Given the description of an element on the screen output the (x, y) to click on. 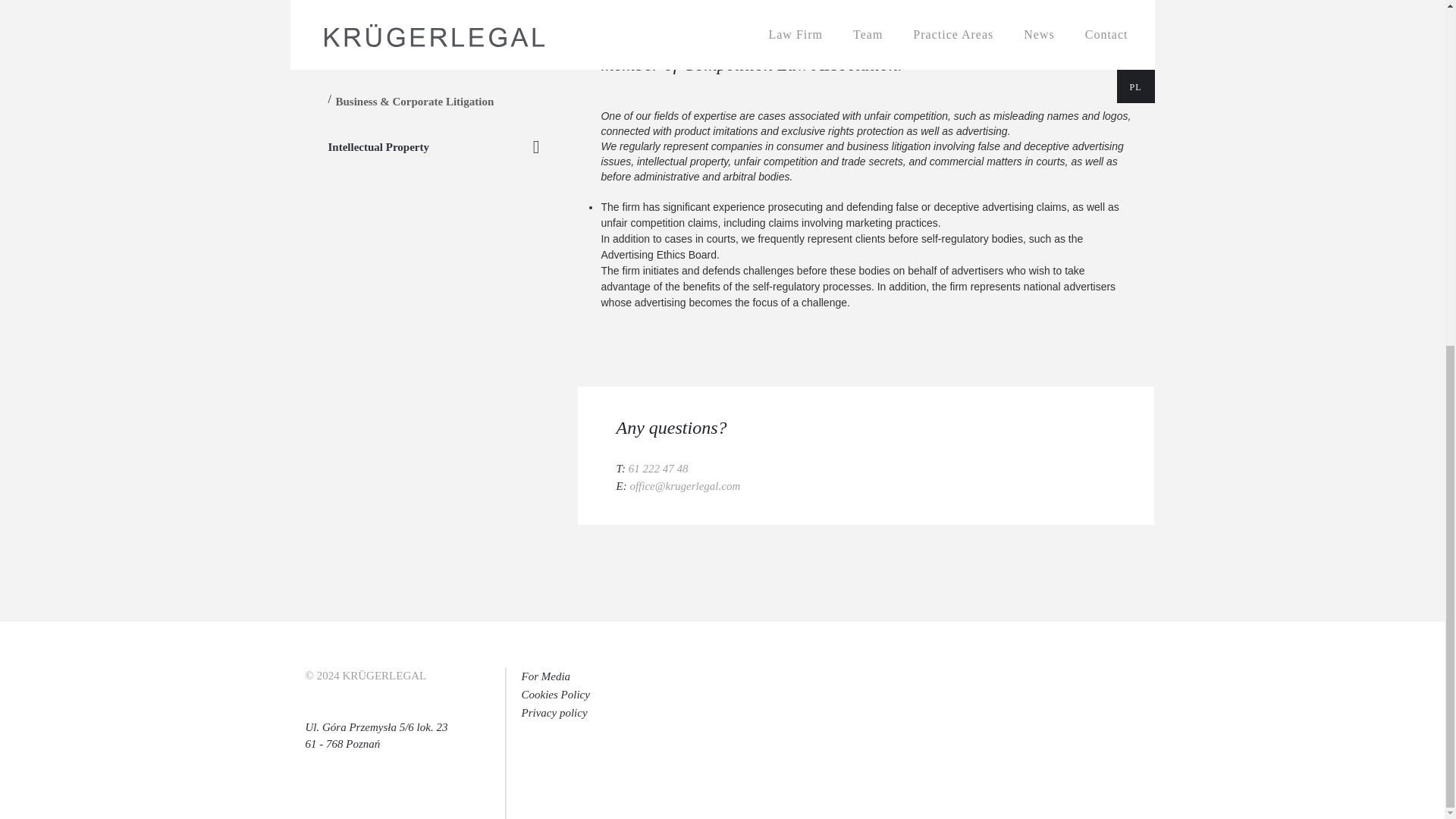
Tax litigation (366, 63)
Marketing and unfair competition litigation (417, 15)
Intellectual Property (377, 146)
